Given the description of an element on the screen output the (x, y) to click on. 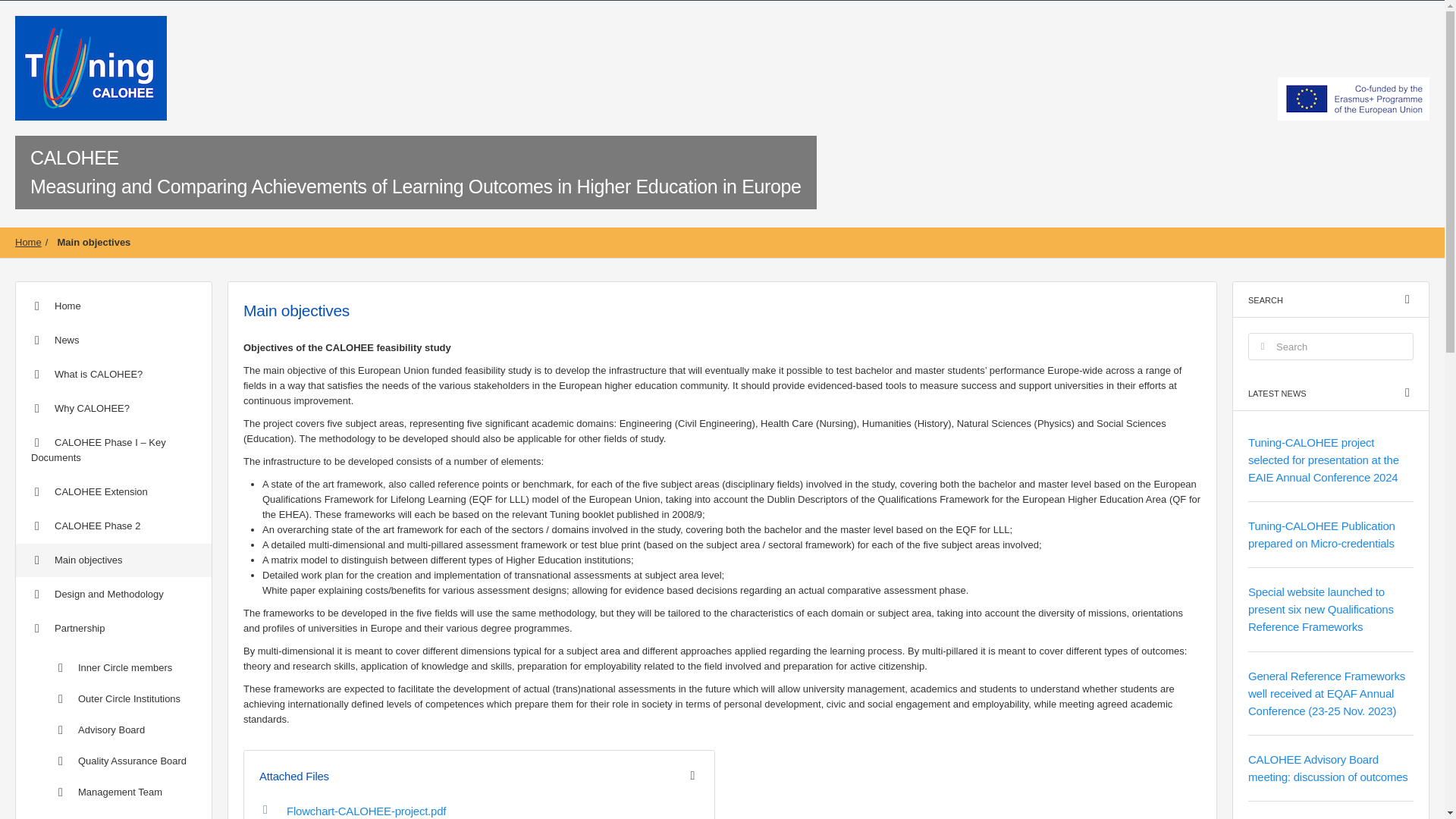
Advisory Board (113, 729)
Home (113, 305)
Management Team (113, 792)
Design and Methodology (113, 594)
Quality Assurance Board (113, 761)
Why CALOHEE? (113, 408)
What is CALOHEE? (113, 374)
News (113, 340)
CALOHEE Phase 2 (113, 525)
Management Committee (113, 813)
